Given the description of an element on the screen output the (x, y) to click on. 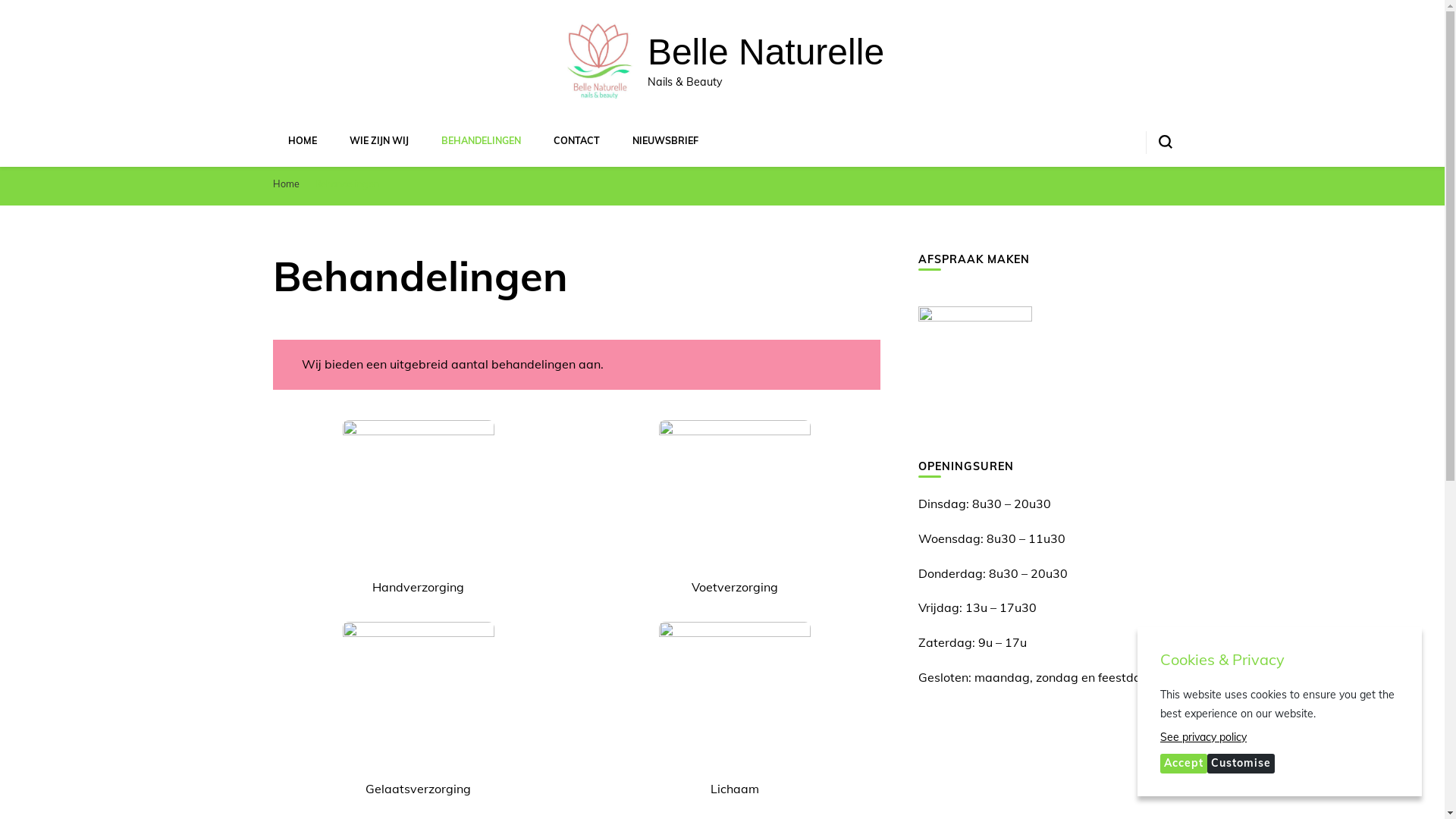
Customise Element type: text (1240, 763)
HOME Element type: text (302, 140)
Belle Naturelle Element type: text (765, 51)
NIEUWSBRIEF Element type: text (665, 140)
Home Element type: text (286, 183)
Behandelingen Element type: text (345, 183)
See privacy policy Element type: text (1279, 738)
CONTACT Element type: text (576, 140)
Accept Element type: text (1183, 763)
BEHANDELINGEN Element type: text (480, 140)
WIE ZIJN WIJ Element type: text (377, 140)
